Given the description of an element on the screen output the (x, y) to click on. 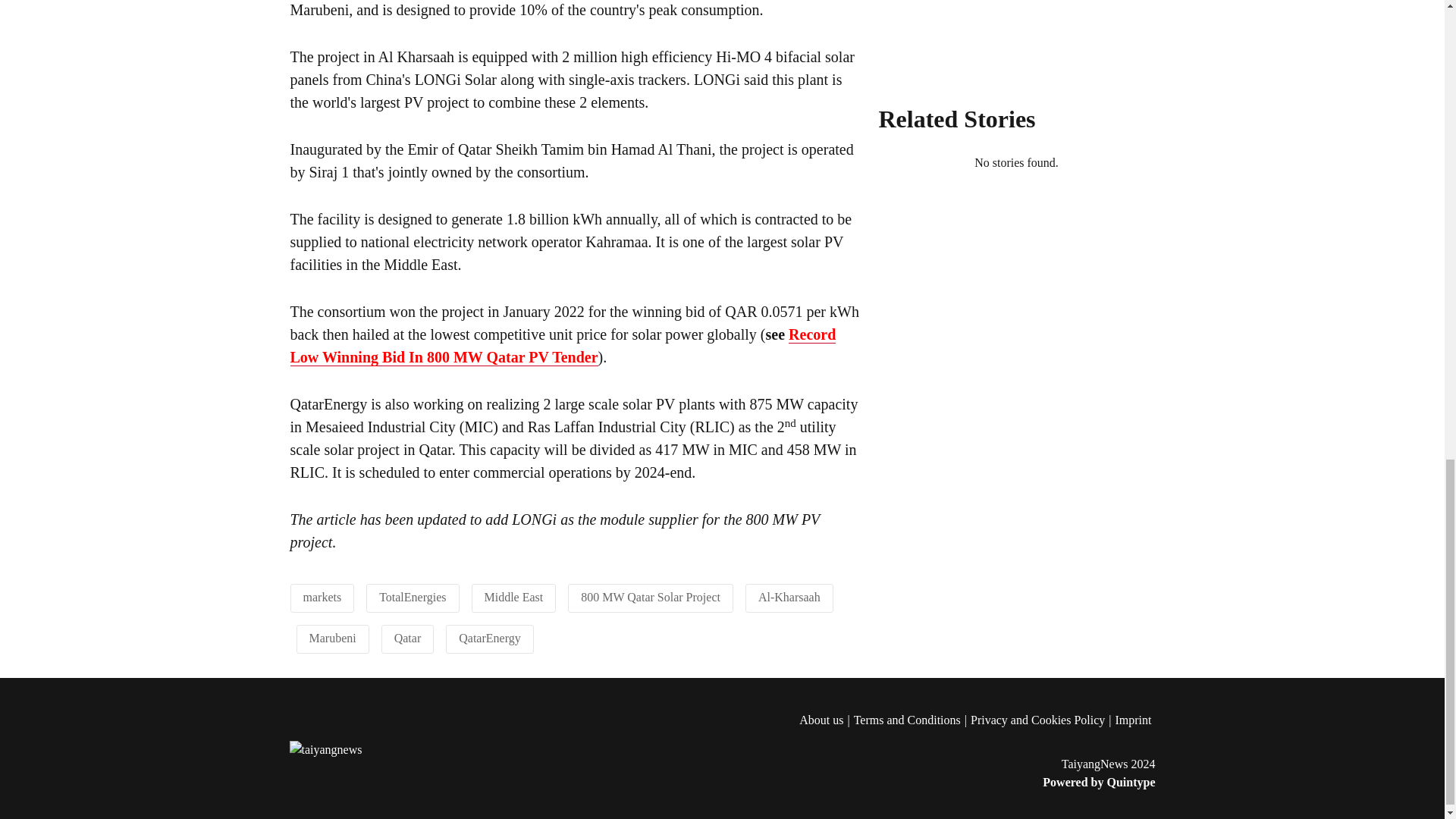
Middle East (513, 596)
Terms and Conditions (912, 720)
Qatar (408, 637)
Marubeni (332, 637)
About us (826, 720)
Record Low Winning Bid In 800 MW Qatar PV Tender (562, 345)
800 MW Qatar Solar Project (650, 596)
markets (322, 596)
QatarEnergy (488, 637)
Al-Kharsaah (789, 596)
